Given the description of an element on the screen output the (x, y) to click on. 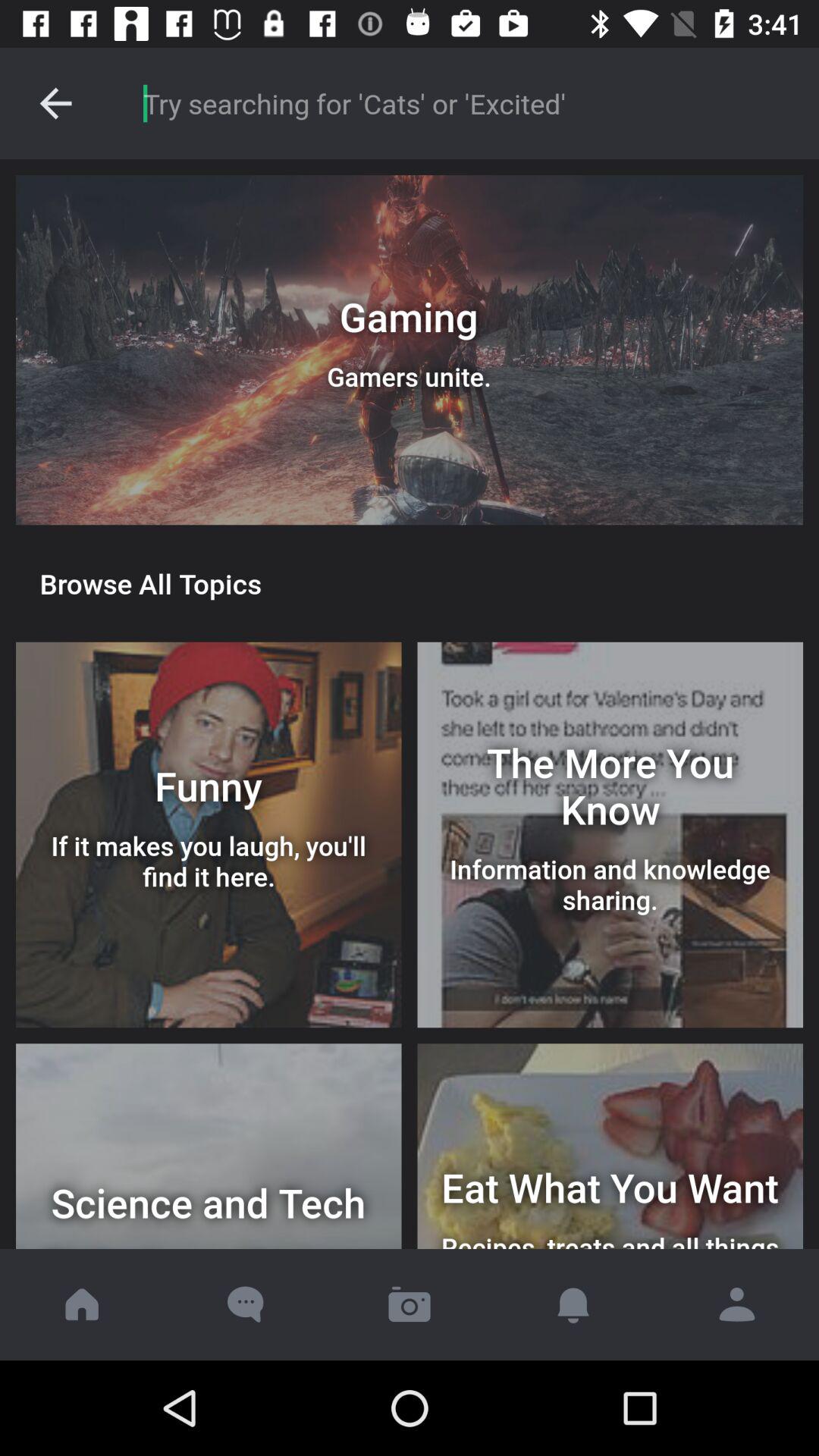
back to previous screen (55, 103)
